Given the description of an element on the screen output the (x, y) to click on. 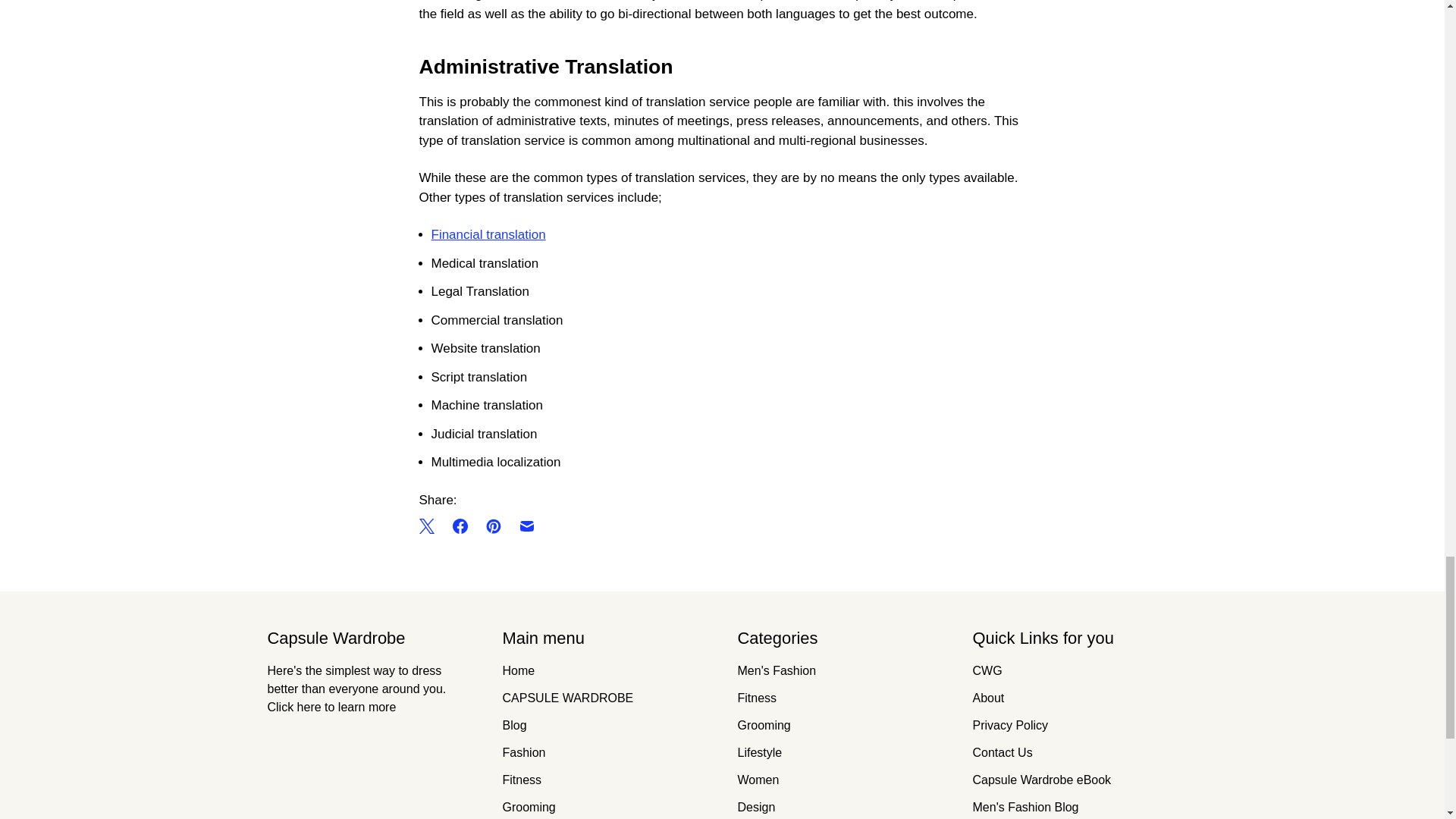
Share this on Pinterest (492, 525)
CAPSULE WARDROBE (567, 697)
Share this on Facebook (459, 525)
Email this to a friend (526, 525)
Financial translation (487, 234)
Click here to learn more (331, 707)
Home (518, 670)
Blog (513, 725)
